Given the description of an element on the screen output the (x, y) to click on. 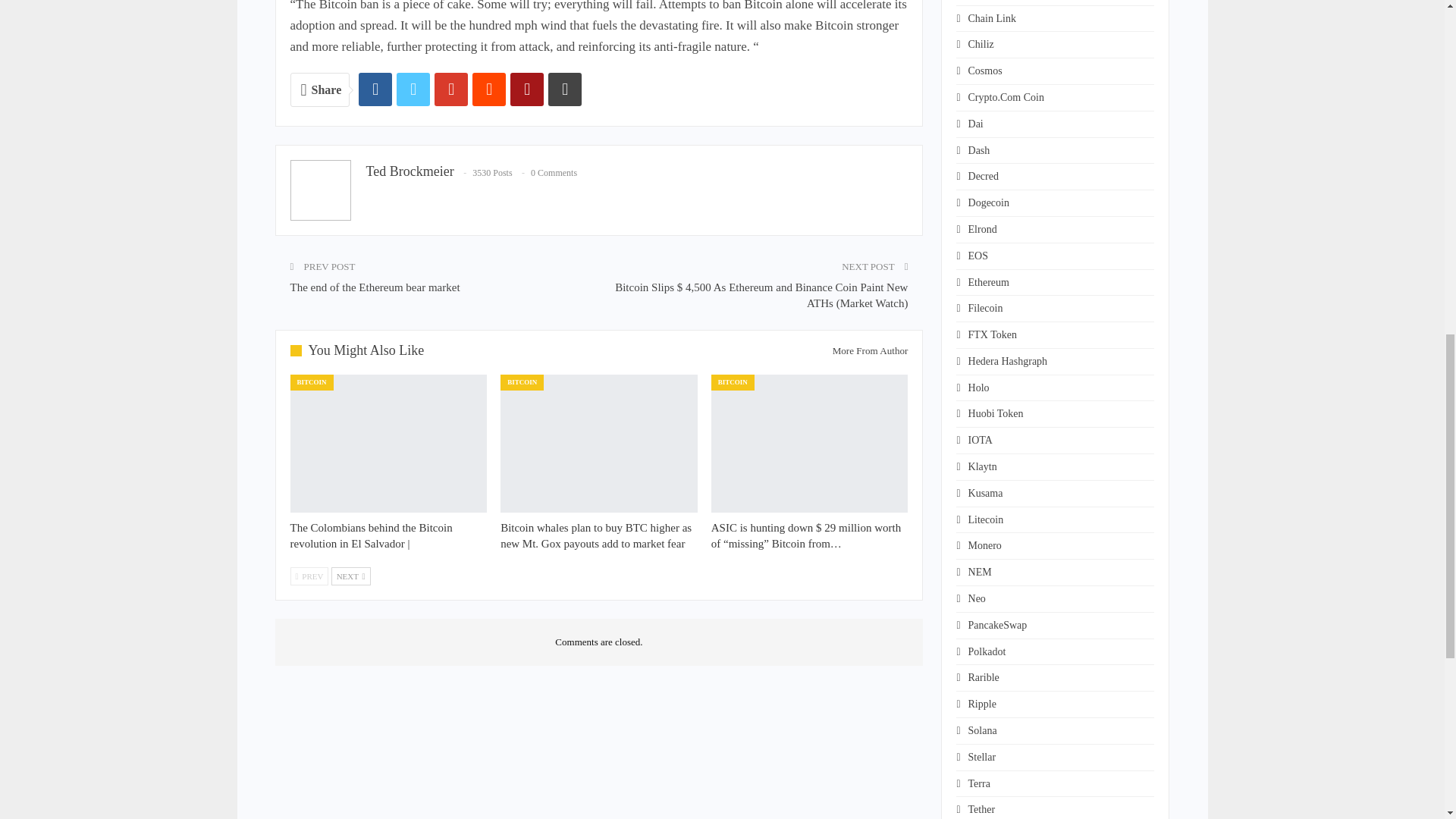
Previous (309, 576)
